Given the description of an element on the screen output the (x, y) to click on. 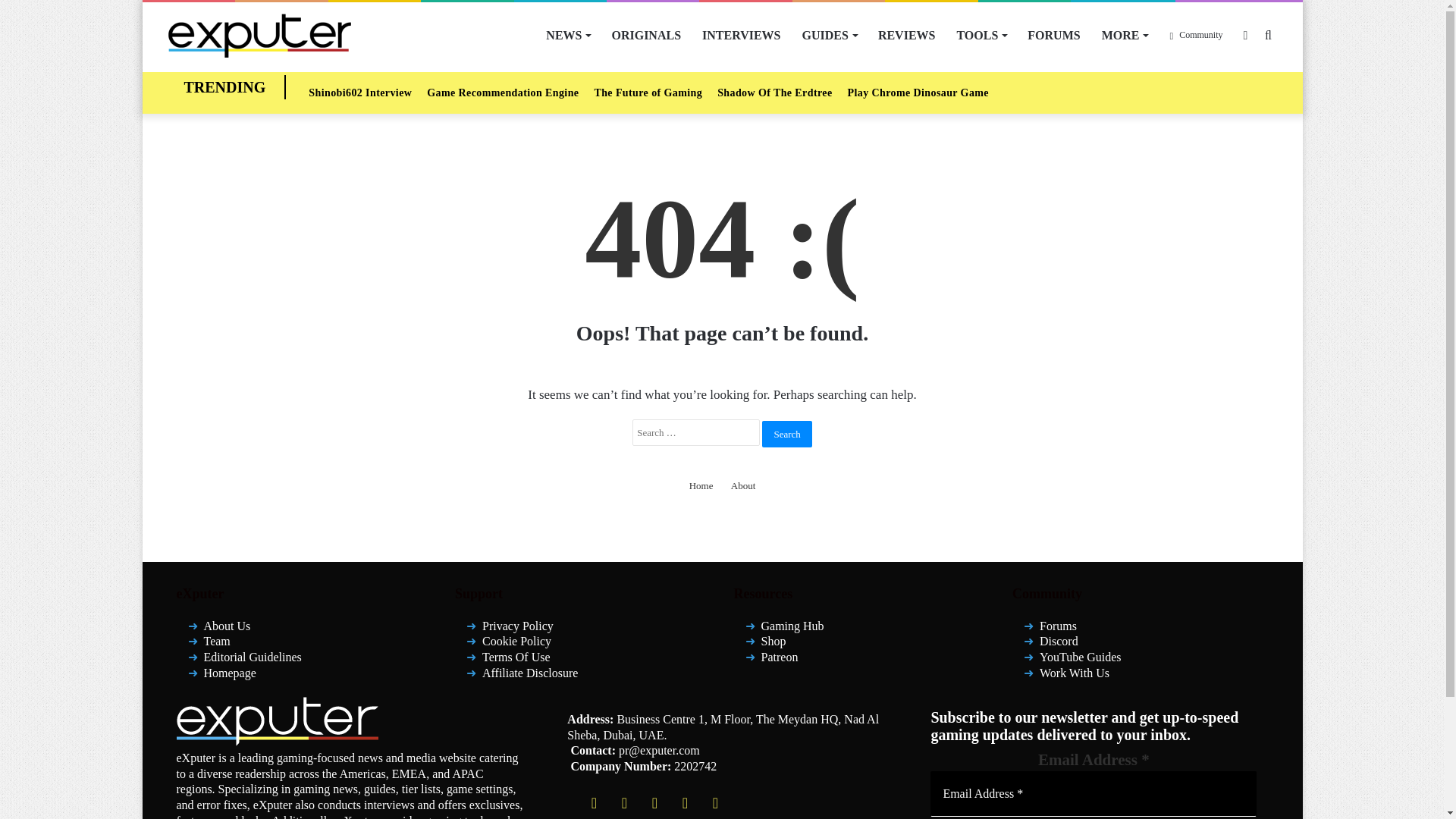
NEWS (567, 35)
FORUMS (1053, 35)
INTERVIEWS (740, 35)
Email Address (1093, 793)
TOOLS (980, 35)
Search (785, 433)
Search (785, 433)
MORE (1124, 35)
GUIDES (829, 35)
eXputer.com (259, 34)
